Given the description of an element on the screen output the (x, y) to click on. 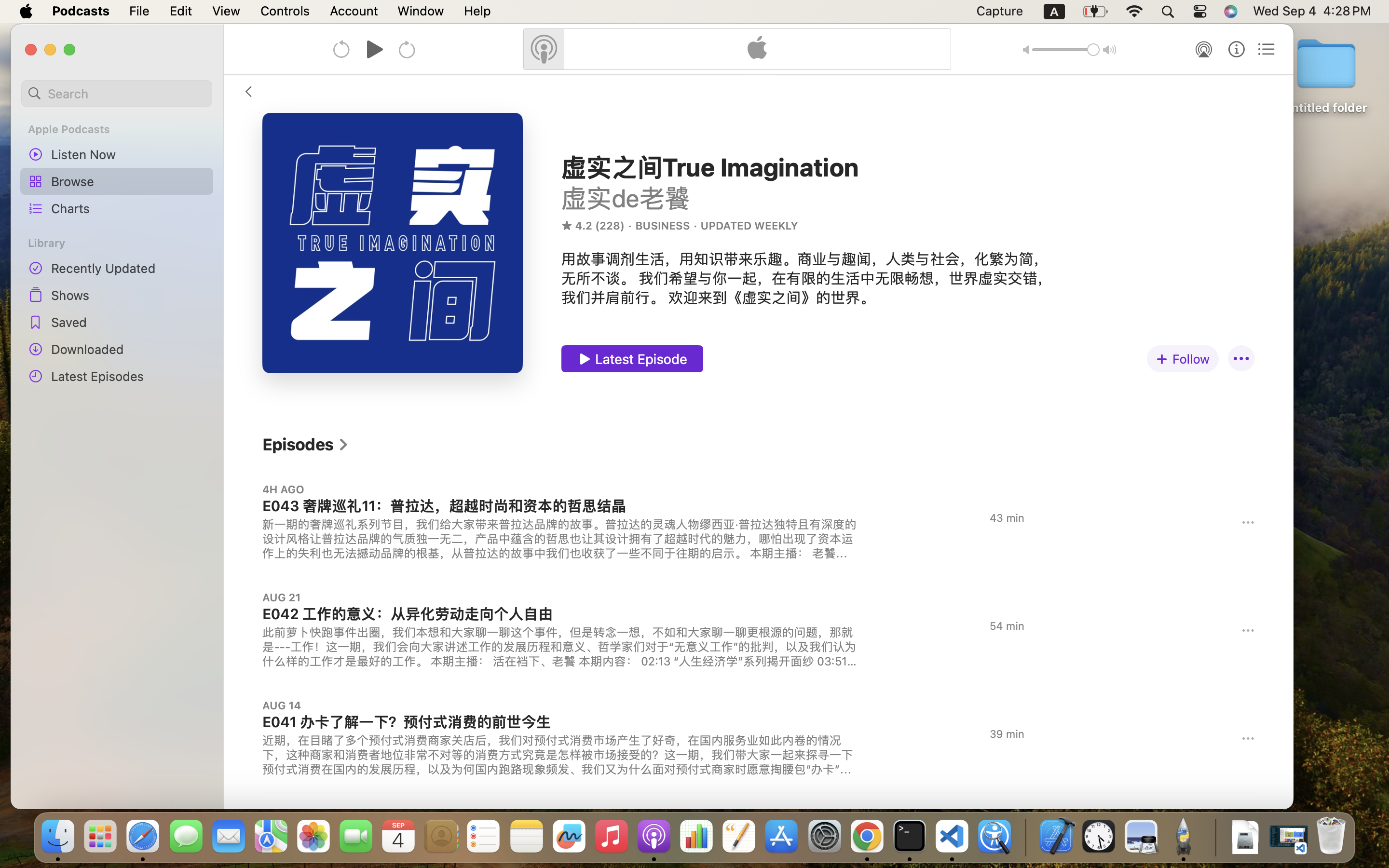
1.0 Element type: AXSlider (1065, 49)
0.4285714328289032 Element type: AXDockItem (1024, 836)
